Given the description of an element on the screen output the (x, y) to click on. 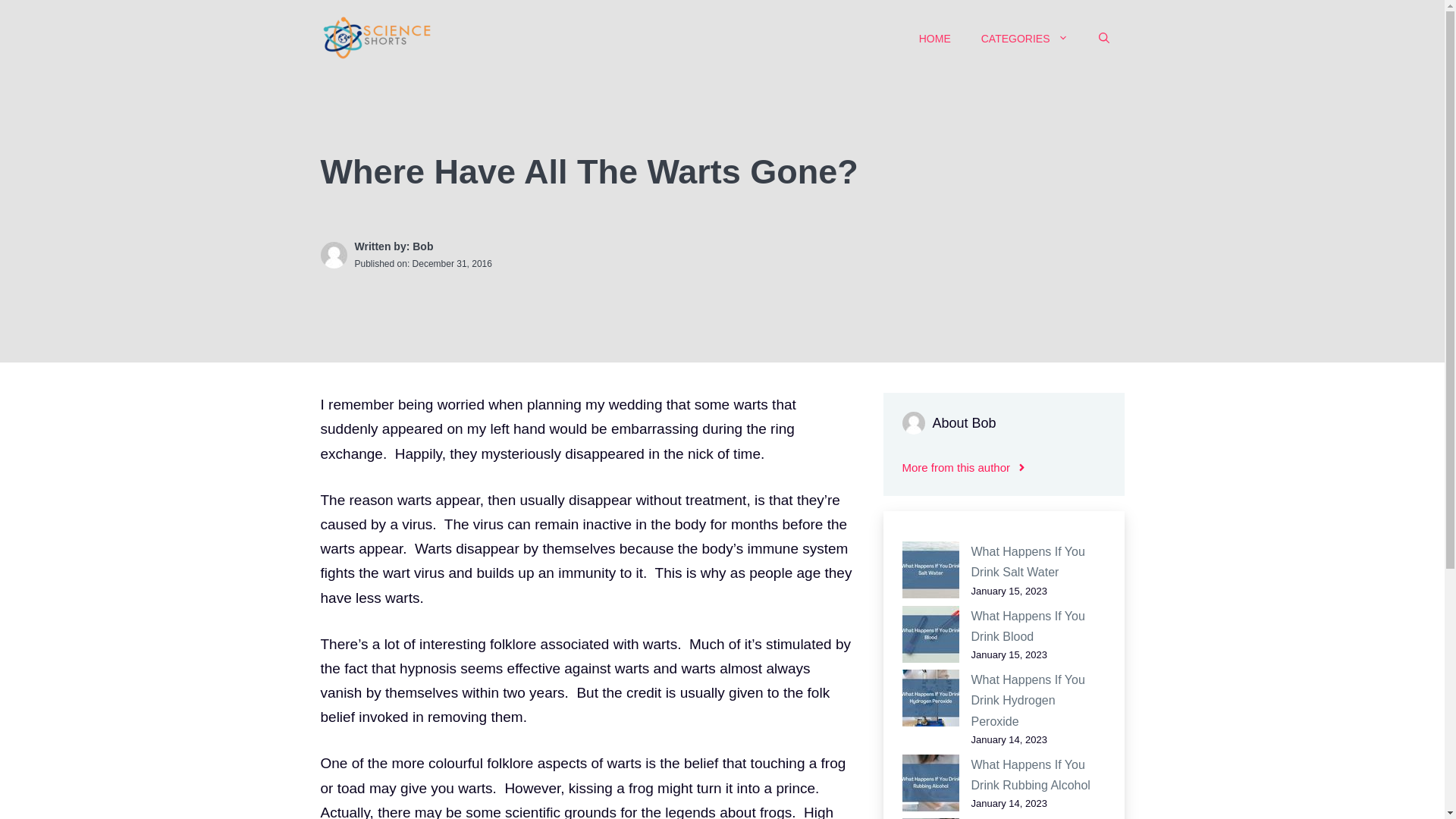
What Happens If You Drink Blood (1027, 625)
HOME (935, 37)
Science Shorts (376, 37)
What Happens If You Drink Hand Sanitizer 5 (930, 818)
What Happens If You Drink Blood 2 (930, 634)
What Happens If You Drink Salt Water 1 (930, 569)
More from this author (964, 467)
What Happens If You Drink Rubbing Alcohol 4 (930, 782)
What Happens If You Drink Hydrogen Peroxide (1027, 700)
What Happens If You Drink Rubbing Alcohol (1030, 774)
